Given the description of an element on the screen output the (x, y) to click on. 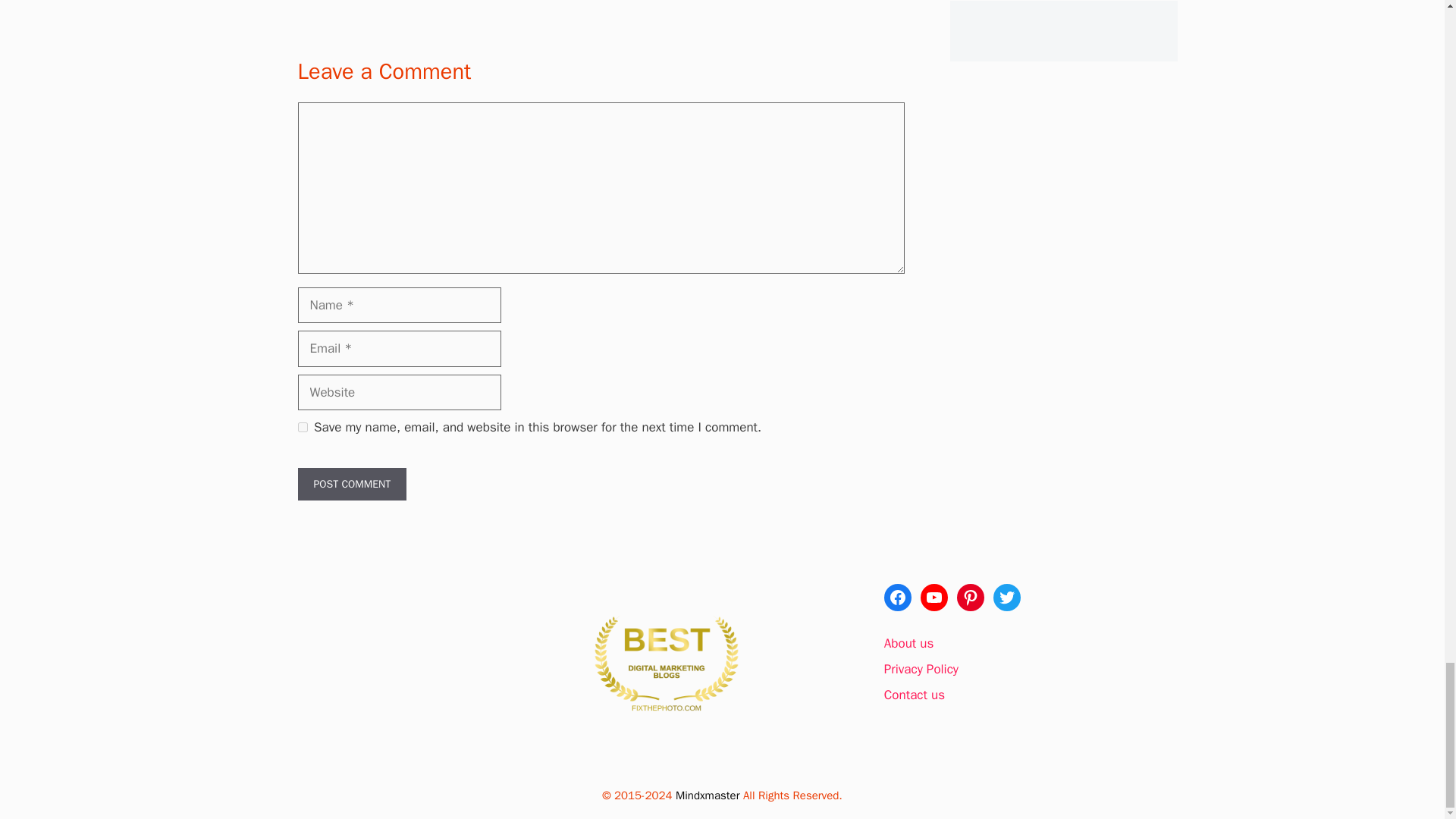
Post Comment (351, 483)
yes (302, 427)
